Given the description of an element on the screen output the (x, y) to click on. 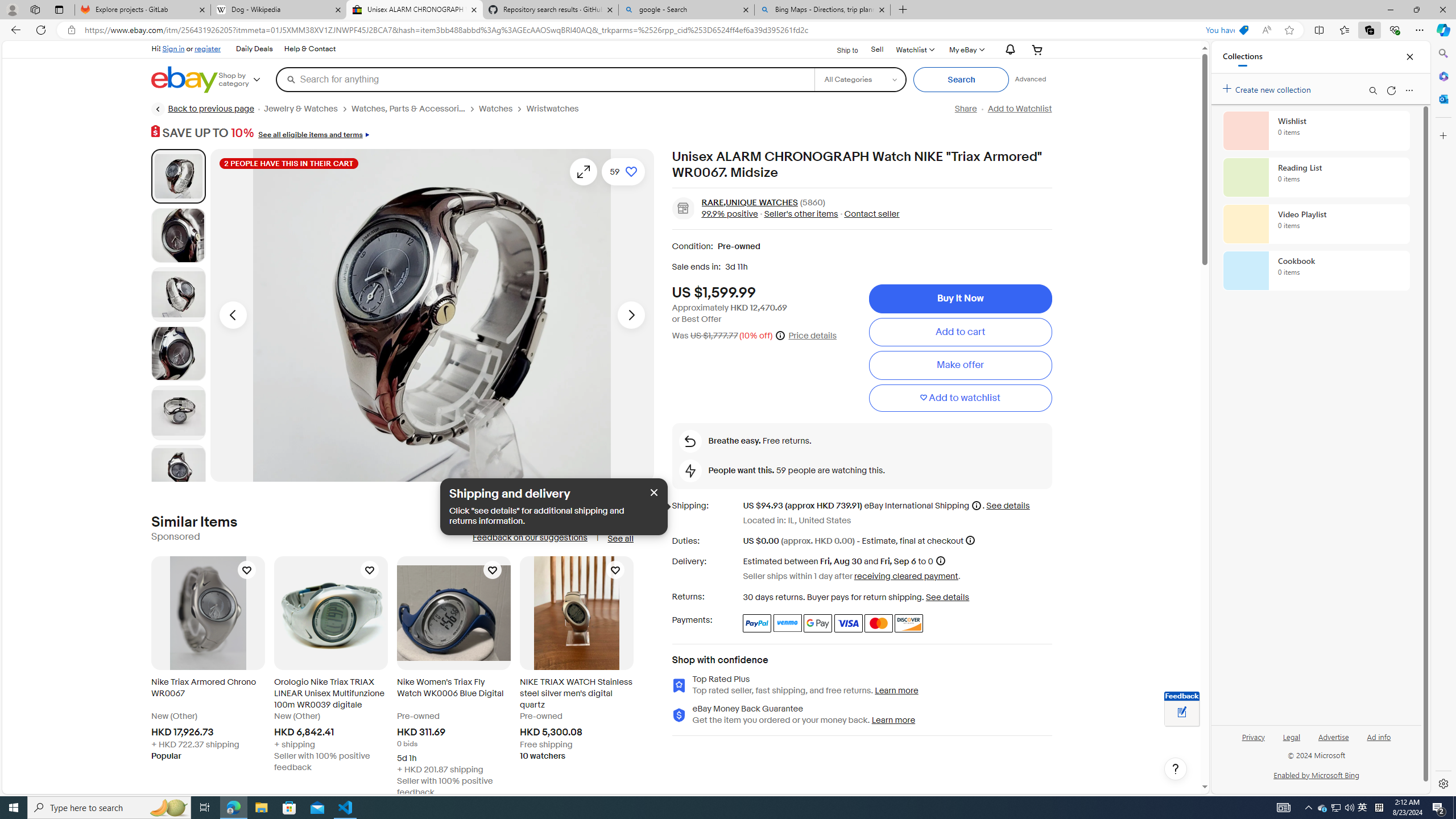
Picture 2 of 18 (178, 235)
Help & Contact (309, 49)
Add to watchlist (959, 397)
Seller's other items (801, 213)
Add to Watchlist (1019, 108)
Reading List collection, 0 items (1316, 177)
Wishlist collection, 0 items (1316, 130)
Share (964, 108)
You have the best price! (1243, 29)
Add to cart (959, 332)
99.9% positive (729, 213)
